Given the description of an element on the screen output the (x, y) to click on. 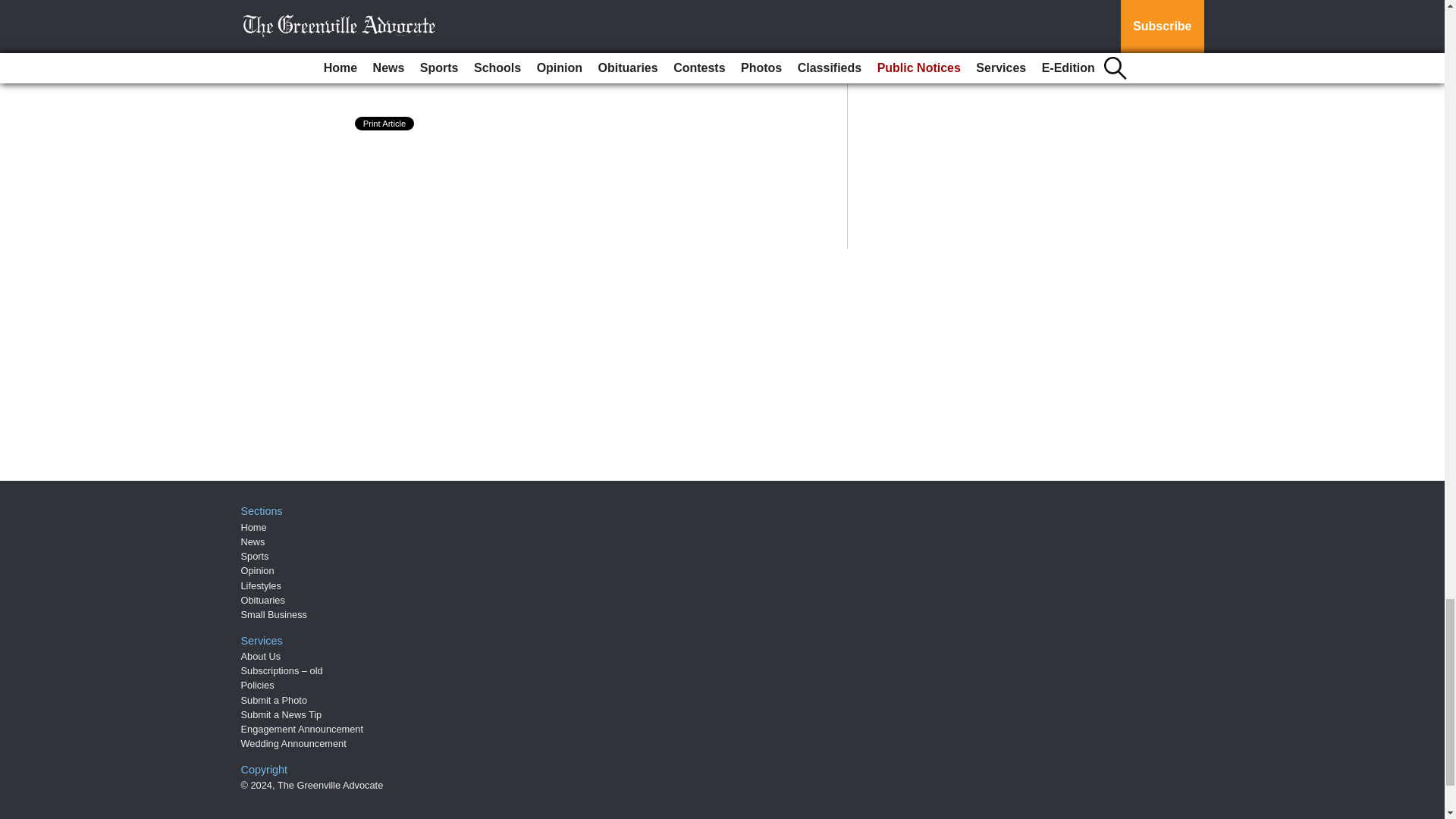
Print Article (384, 123)
